Given the description of an element on the screen output the (x, y) to click on. 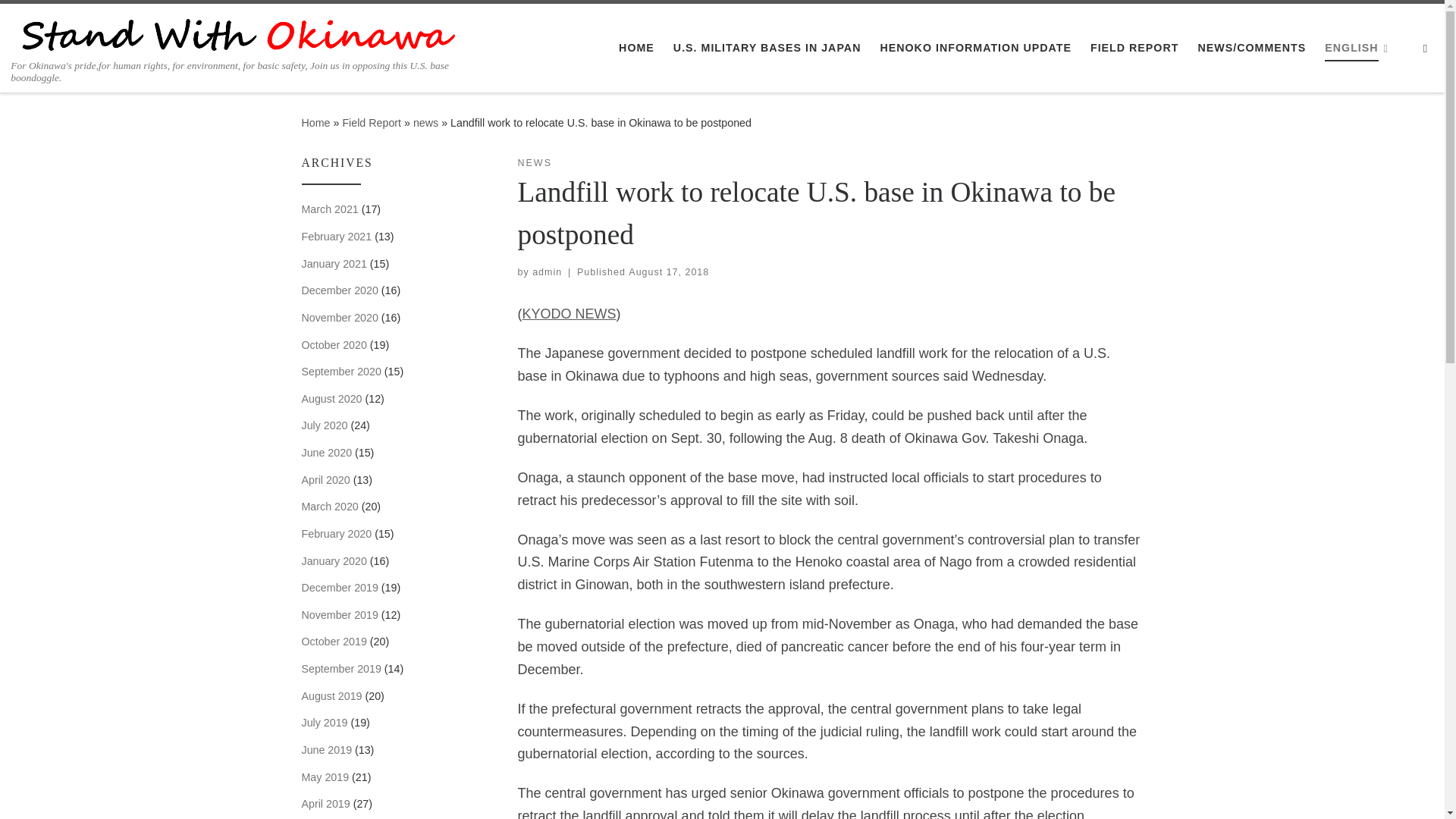
admin (547, 271)
NEWS (533, 163)
Stand With Okinawa (315, 122)
FIELD REPORT (1134, 48)
View all posts in news (533, 163)
HOME (636, 48)
August 17, 2018 (668, 271)
Field Report (371, 122)
news (425, 122)
HENOKO INFORMATION UPDATE (975, 48)
